Given the description of an element on the screen output the (x, y) to click on. 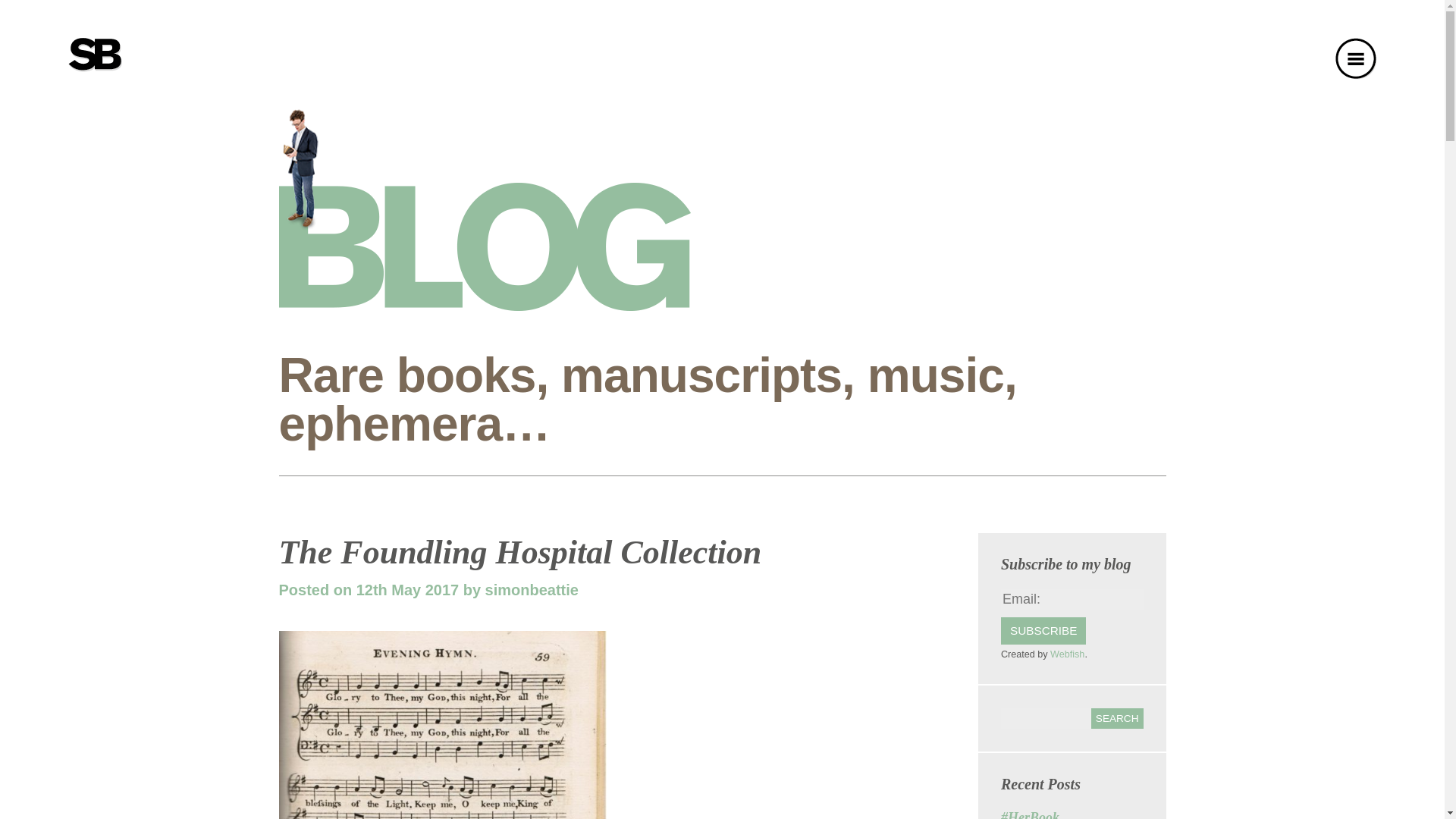
Simon Beattie (95, 54)
Search (1116, 718)
Subscribe (1043, 630)
Subscribe (1043, 630)
Search (1116, 718)
Simon Beattie (95, 53)
Menu Button (1355, 58)
Webfish (1066, 654)
